Given the description of an element on the screen output the (x, y) to click on. 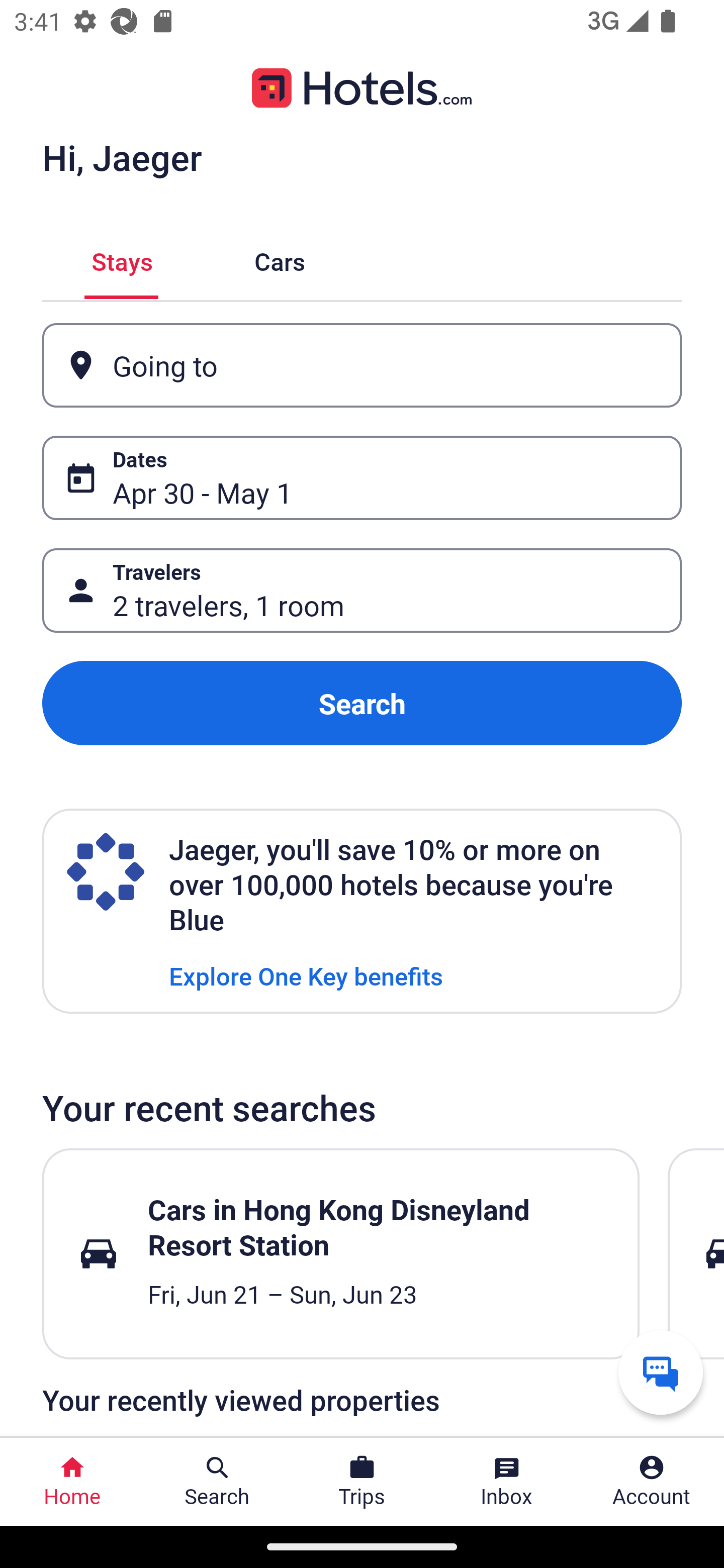
Hi, Jaeger (121, 156)
Cars (279, 259)
Going to Button (361, 365)
Dates Button Apr 30 - May 1 (361, 477)
Travelers Button 2 travelers, 1 room (361, 590)
Search (361, 702)
Get help from a virtual agent (660, 1371)
Search Search Button (216, 1481)
Trips Trips Button (361, 1481)
Inbox Inbox Button (506, 1481)
Account Profile. Button (651, 1481)
